Given the description of an element on the screen output the (x, y) to click on. 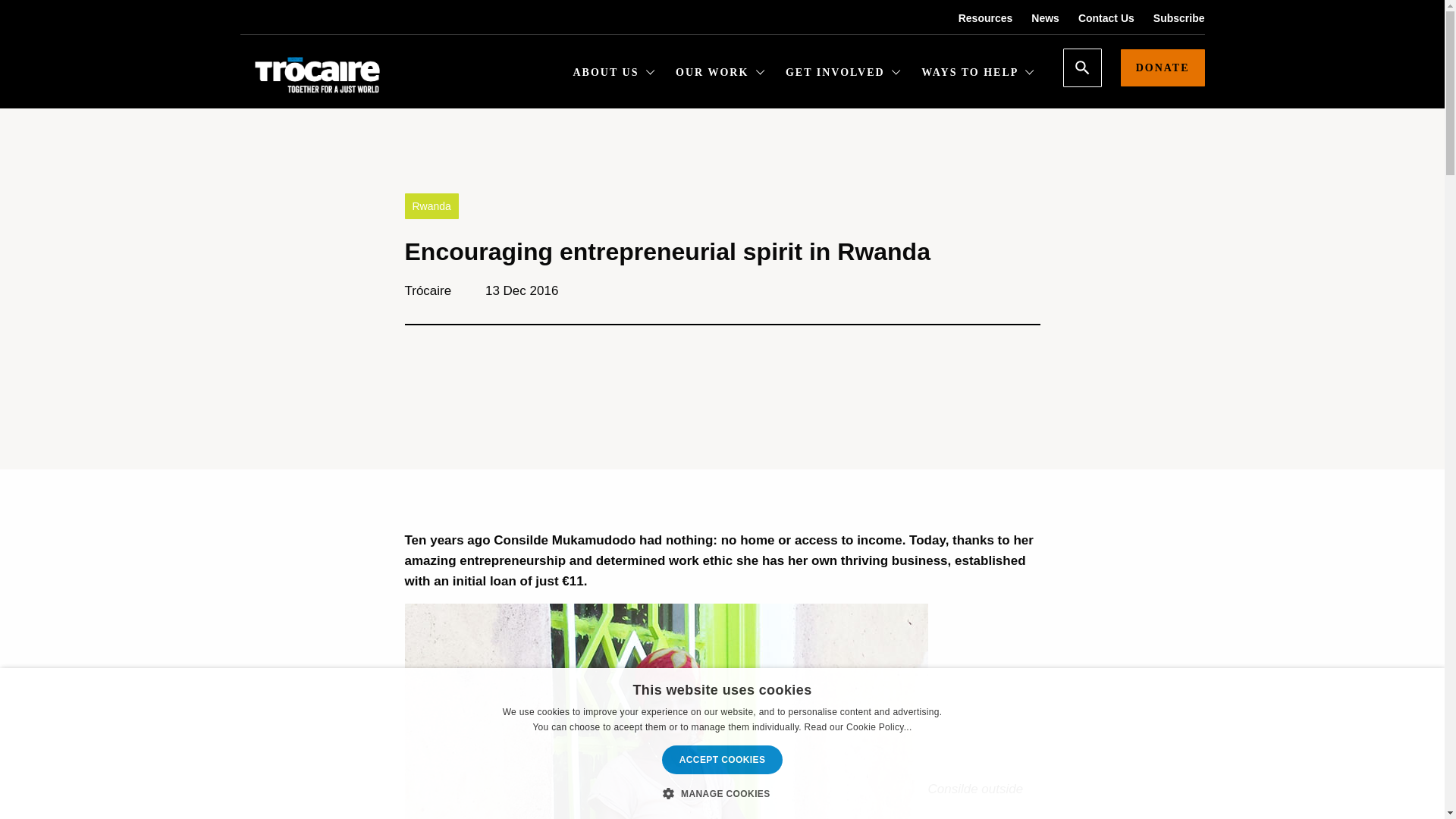
News (1035, 17)
Resources (976, 17)
Contact Us (1096, 17)
ABOUT US (614, 74)
WAYS TO HELP (977, 74)
GET INVOLVED (843, 74)
DONATE (1163, 67)
OUR WORK (720, 74)
Subscribe (1169, 17)
